Given the description of an element on the screen output the (x, y) to click on. 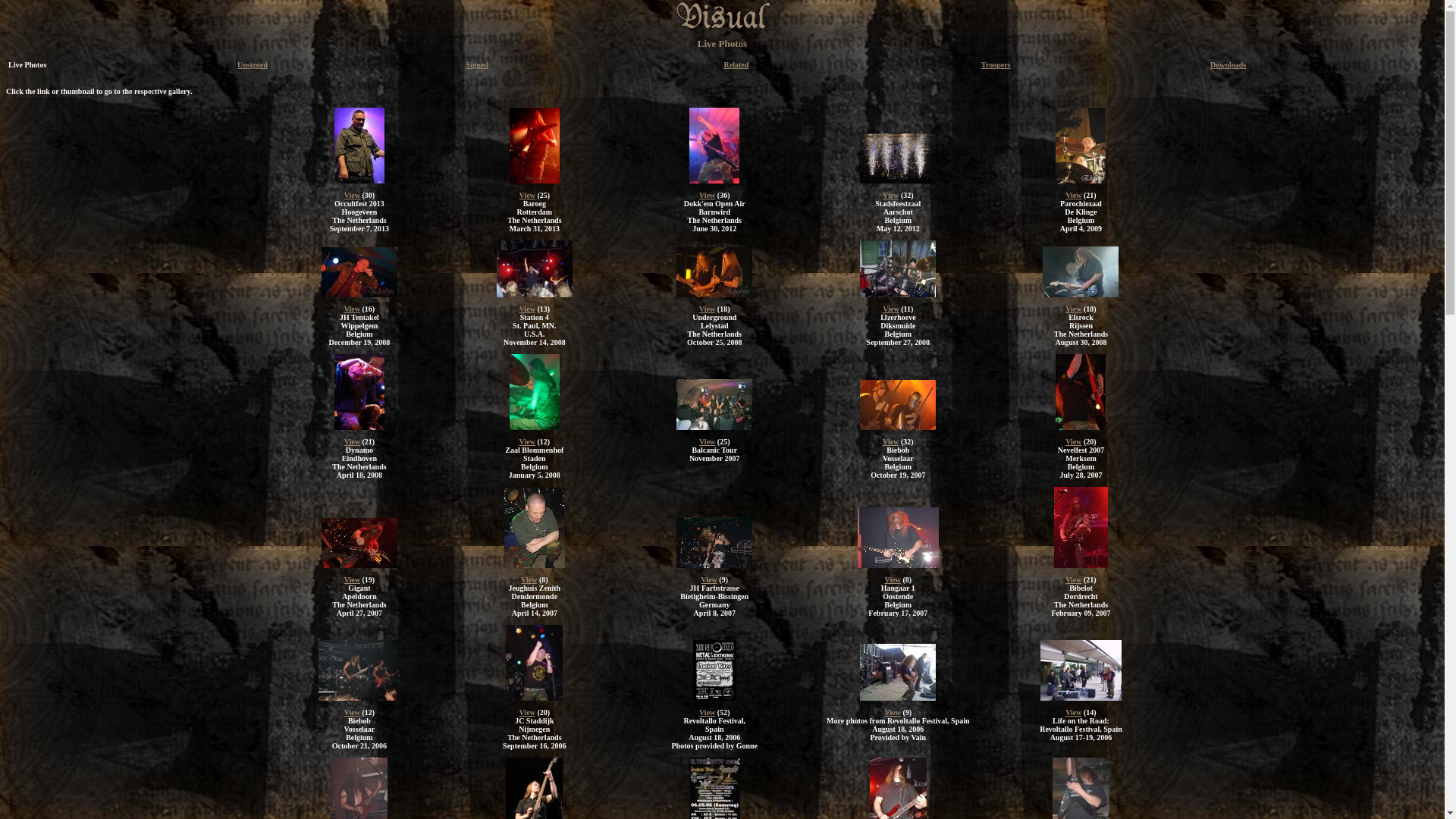
View Element type: text (707, 712)
View Element type: text (707, 441)
View Element type: text (352, 195)
View Element type: text (892, 712)
View Element type: text (709, 579)
View Element type: text (527, 195)
View Element type: text (1073, 579)
View Element type: text (527, 712)
Signed Element type: text (477, 64)
View Element type: text (1073, 712)
View Element type: text (890, 441)
View Element type: text (1073, 441)
Related Element type: text (735, 64)
View Element type: text (352, 579)
Troopers Element type: text (995, 64)
View Element type: text (352, 712)
View Element type: text (890, 195)
Unsigned Element type: text (252, 64)
View Element type: text (527, 441)
Downloads Element type: text (1227, 64)
View Element type: text (892, 579)
View Element type: text (707, 308)
View Element type: text (1073, 308)
View Element type: text (527, 308)
View Element type: text (352, 441)
View Element type: text (707, 195)
View Element type: text (1073, 195)
View Element type: text (352, 308)
View Element type: text (890, 308)
View Element type: text (528, 579)
